Given the description of an element on the screen output the (x, y) to click on. 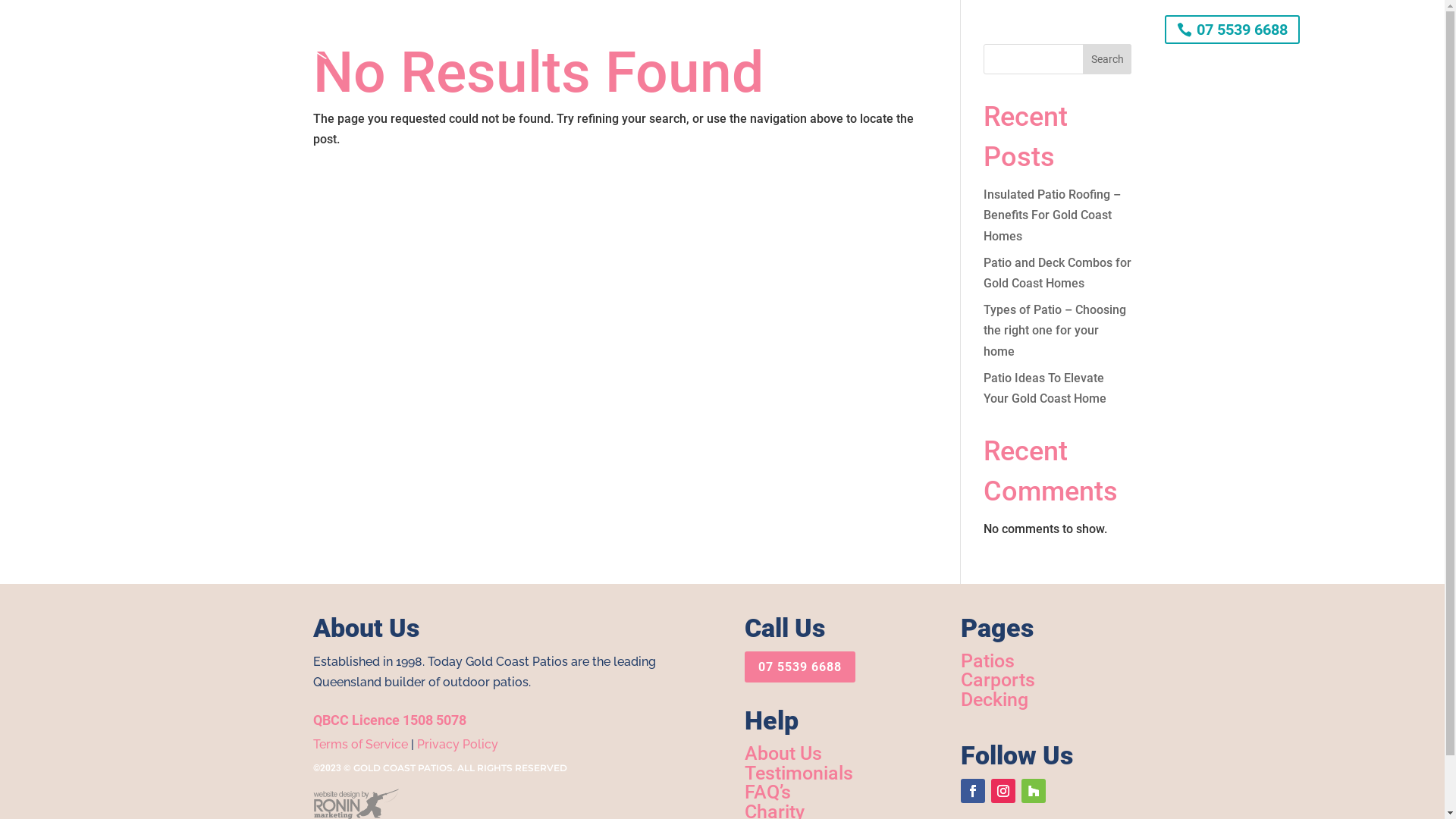
Search Element type: text (1107, 58)
Carports Element type: text (997, 679)
About Us Element type: text (667, 29)
Privacy Policy Element type: text (457, 744)
Testimonials Element type: text (798, 773)
07 5539 6688 Element type: text (1231, 29)
News Element type: text (845, 29)
07 5539 6688 Element type: text (799, 666)
Patio Ideas To Elevate Your Gold Coast Home Element type: text (1044, 387)
Follow on Facebook Element type: hover (972, 790)
Contact Element type: text (901, 29)
Decking Element type: text (994, 699)
Testimonials Element type: text (781, 29)
Follow on Instagram Element type: hover (1003, 790)
Patio and Deck Combos for Gold Coast Homes Element type: text (1057, 272)
Gold-Coast-Patios-Logo-White Element type: hover (237, 30)
Terms of Service Element type: text (359, 744)
Our Range Element type: text (595, 29)
Patios Element type: text (987, 660)
Home Element type: text (531, 29)
Follow on Houzz Element type: hover (1033, 790)
About Us Element type: text (783, 753)
